Given the description of an element on the screen output the (x, y) to click on. 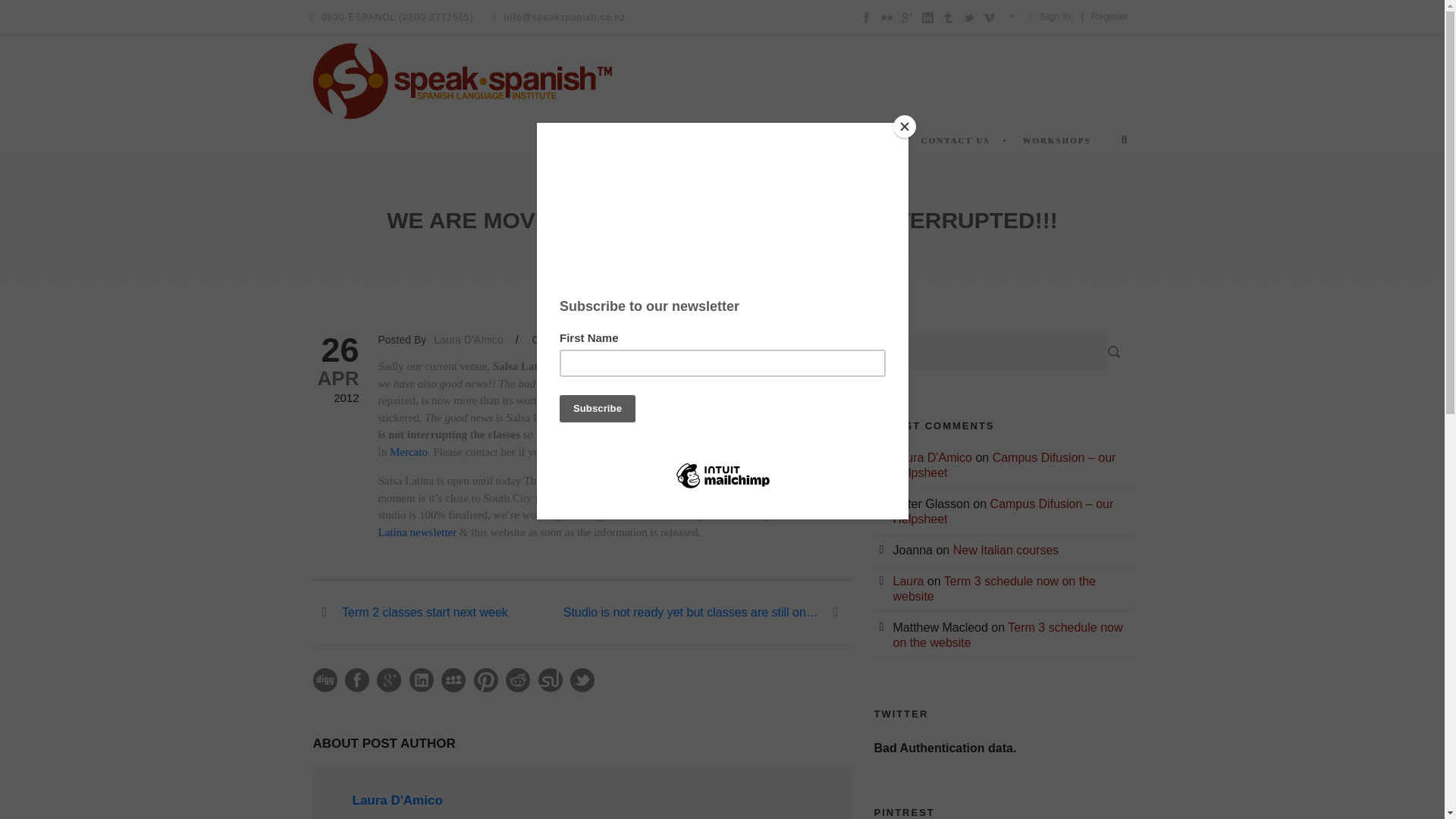
HOME (580, 144)
Sign In (1055, 16)
Salsa Latina newsletter (605, 523)
Mercato (407, 451)
Posts by Laura D'Amico (397, 800)
Register (1108, 16)
WORKSHOPS (1054, 144)
F.A.QS (866, 144)
Posts by Laura D'Amico (467, 339)
Laura D'Amico (467, 339)
Term 2 classes start next week (409, 612)
CONTACT US (952, 144)
Mercato (407, 451)
COURSES (644, 144)
